Given the description of an element on the screen output the (x, y) to click on. 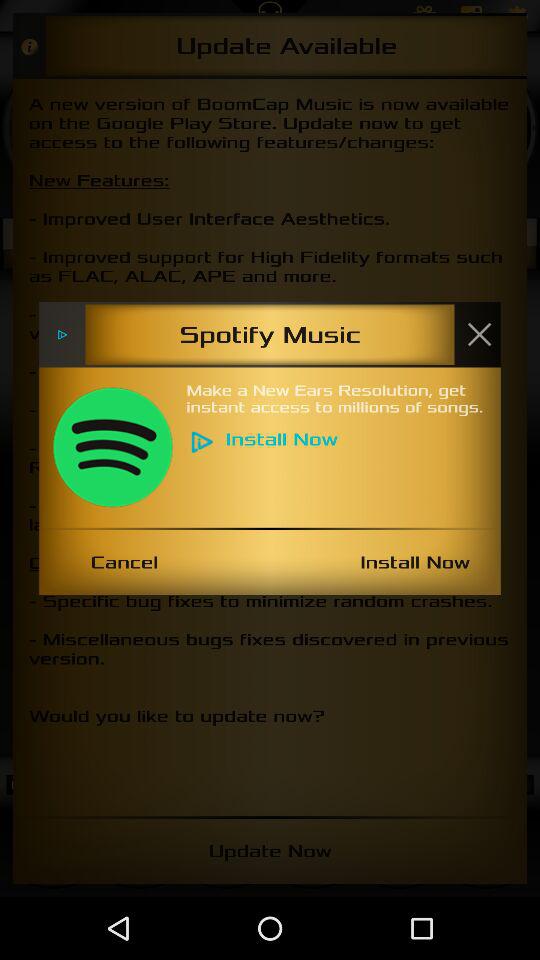
spotify homepage (112, 447)
